Given the description of an element on the screen output the (x, y) to click on. 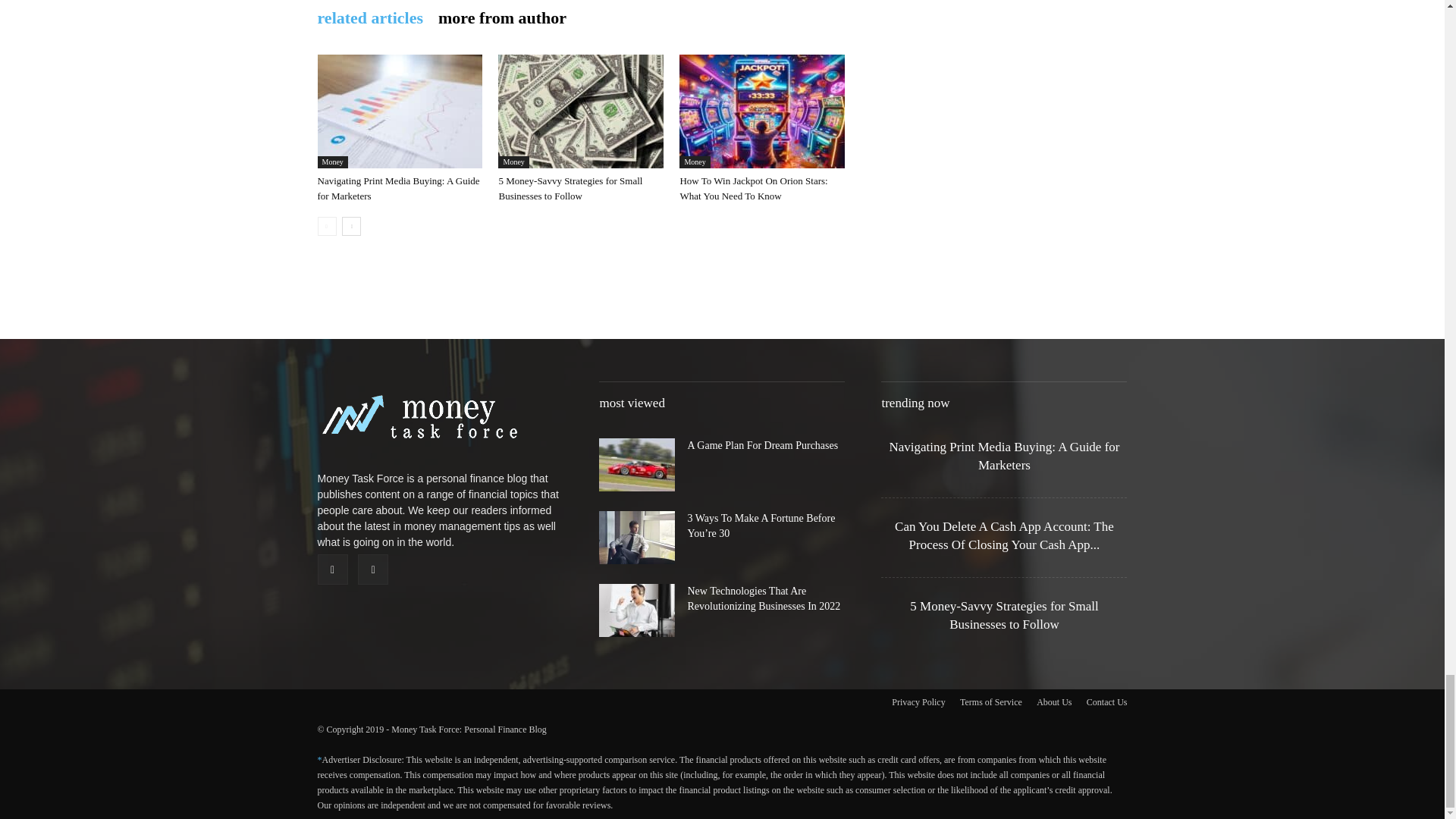
Navigating Print Media Buying: A Guide for Marketers (399, 111)
